Given the description of an element on the screen output the (x, y) to click on. 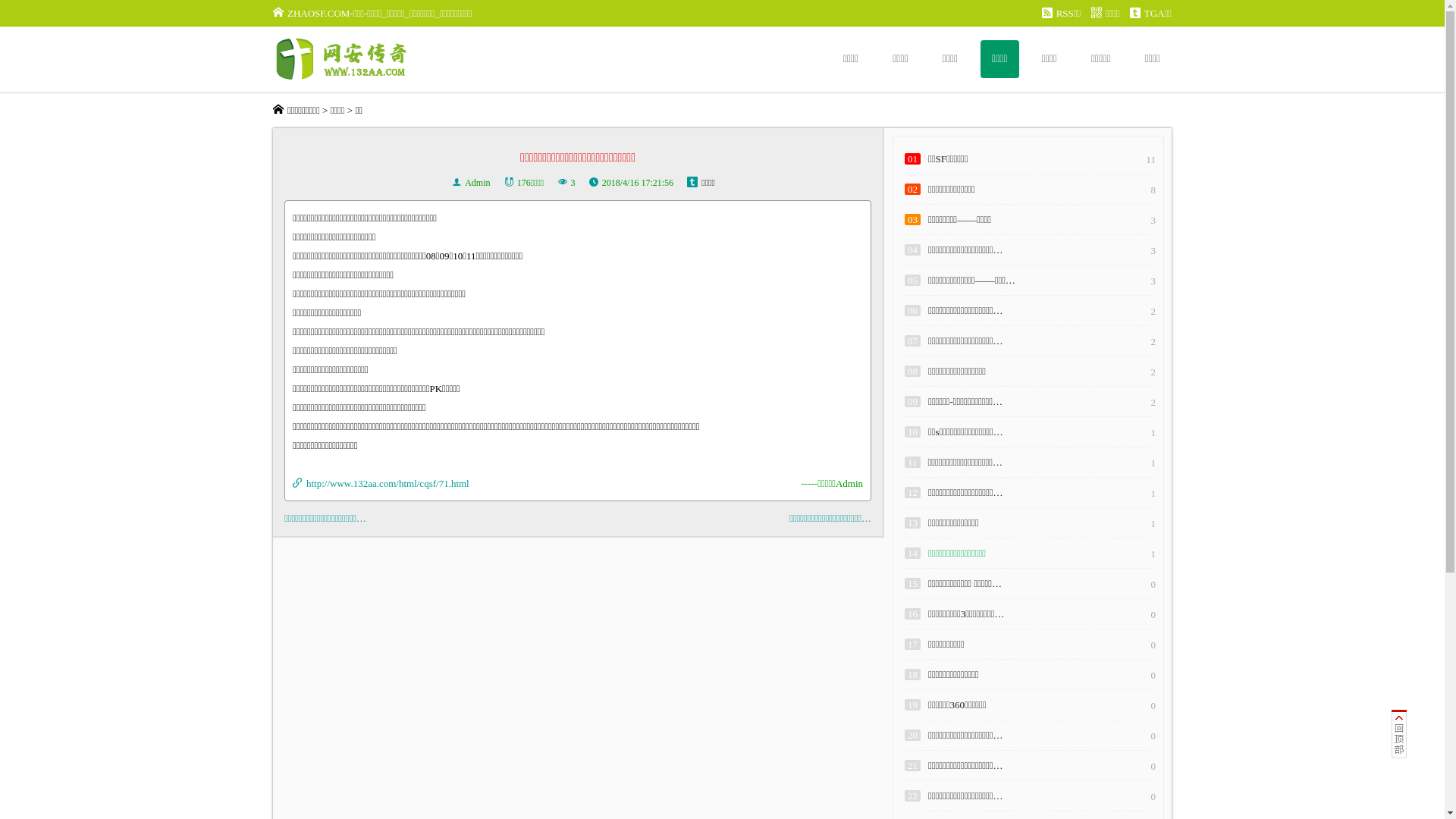
http://www.132aa.com/html/cqsf/71.html Element type: text (387, 483)
